Given the description of an element on the screen output the (x, y) to click on. 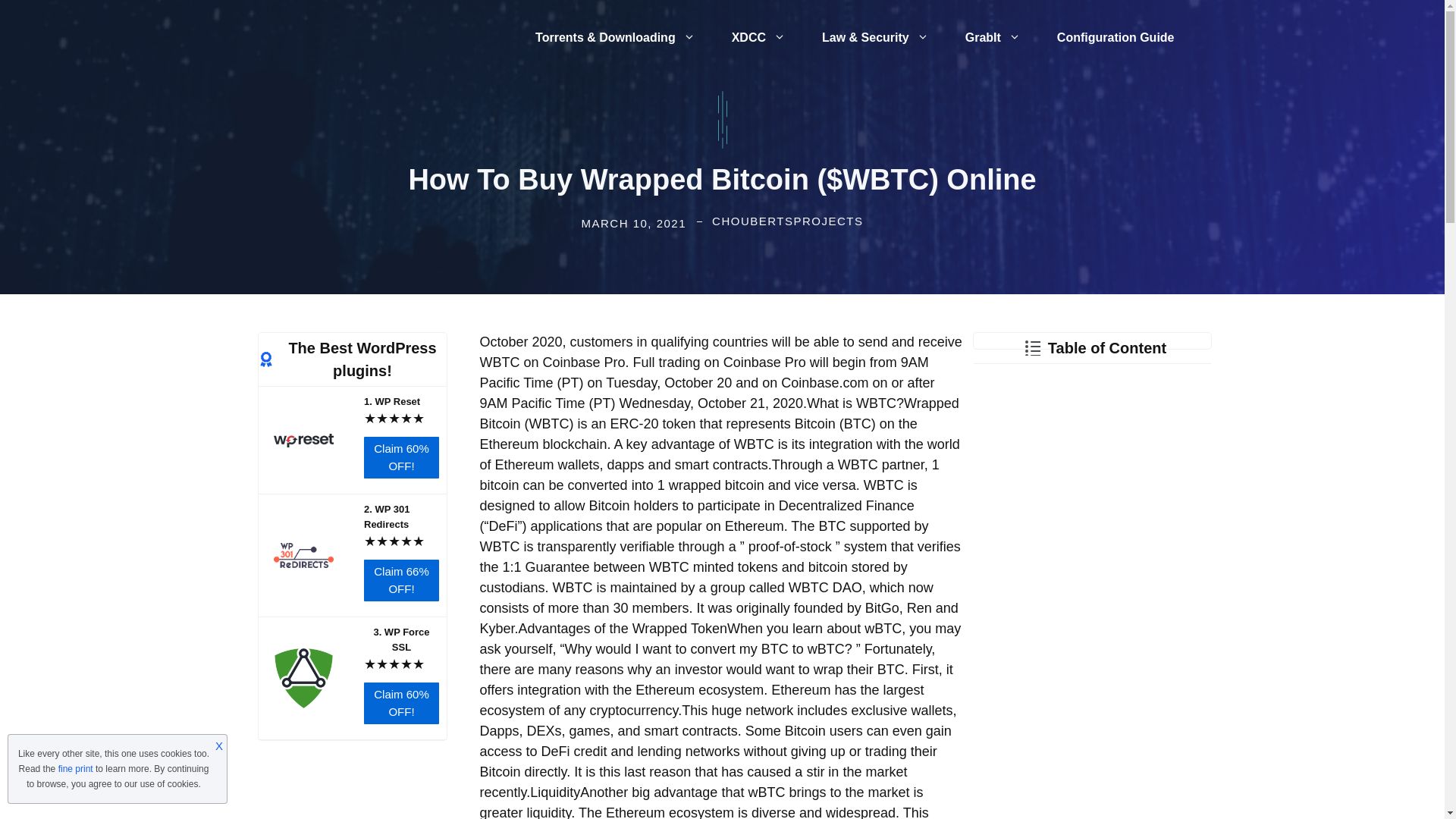
x-megamenu (875, 37)
x-megamenu (758, 37)
x-megamenu (614, 37)
